Given the description of an element on the screen output the (x, y) to click on. 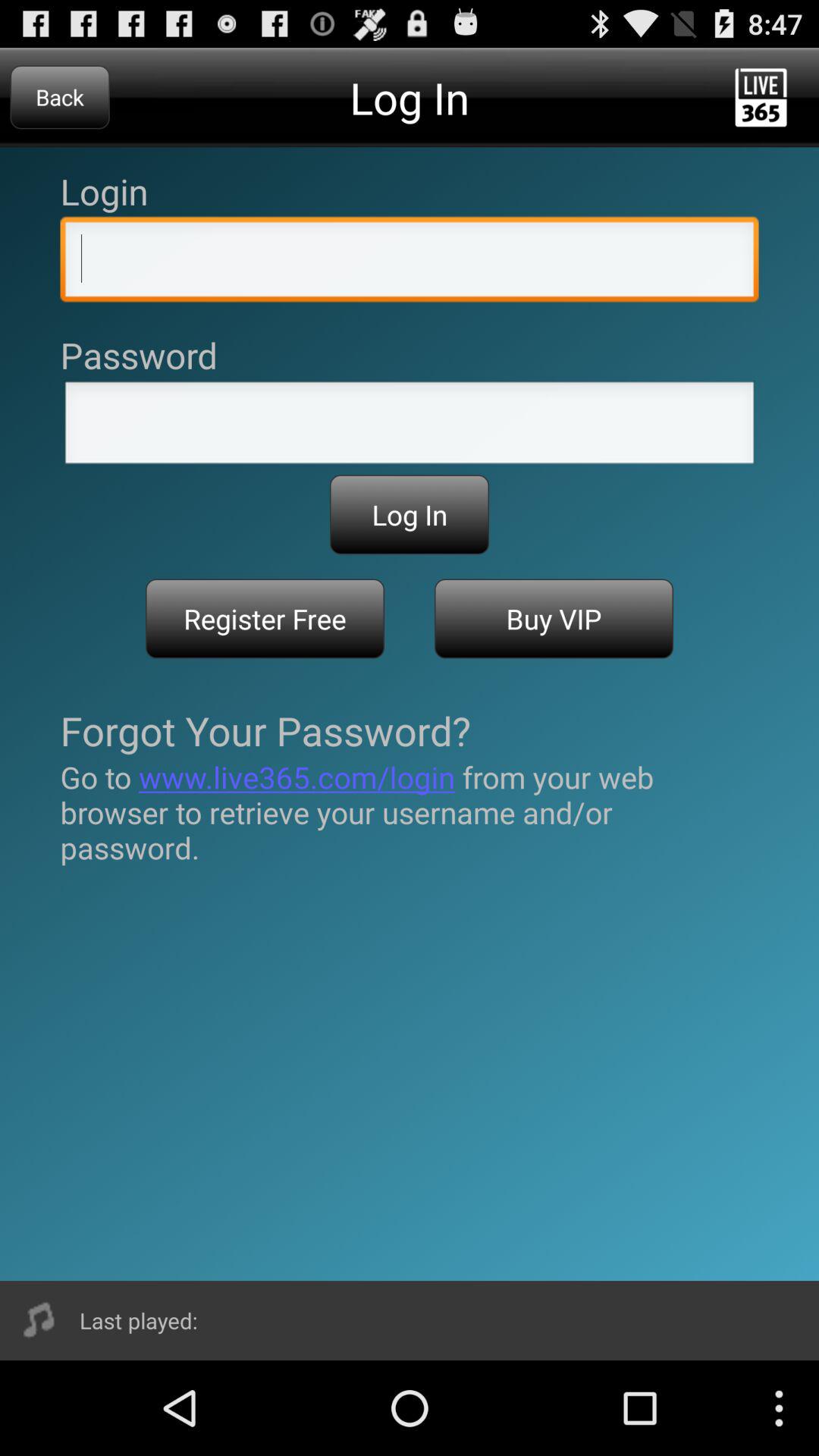
open the icon next to register free item (553, 618)
